Given the description of an element on the screen output the (x, y) to click on. 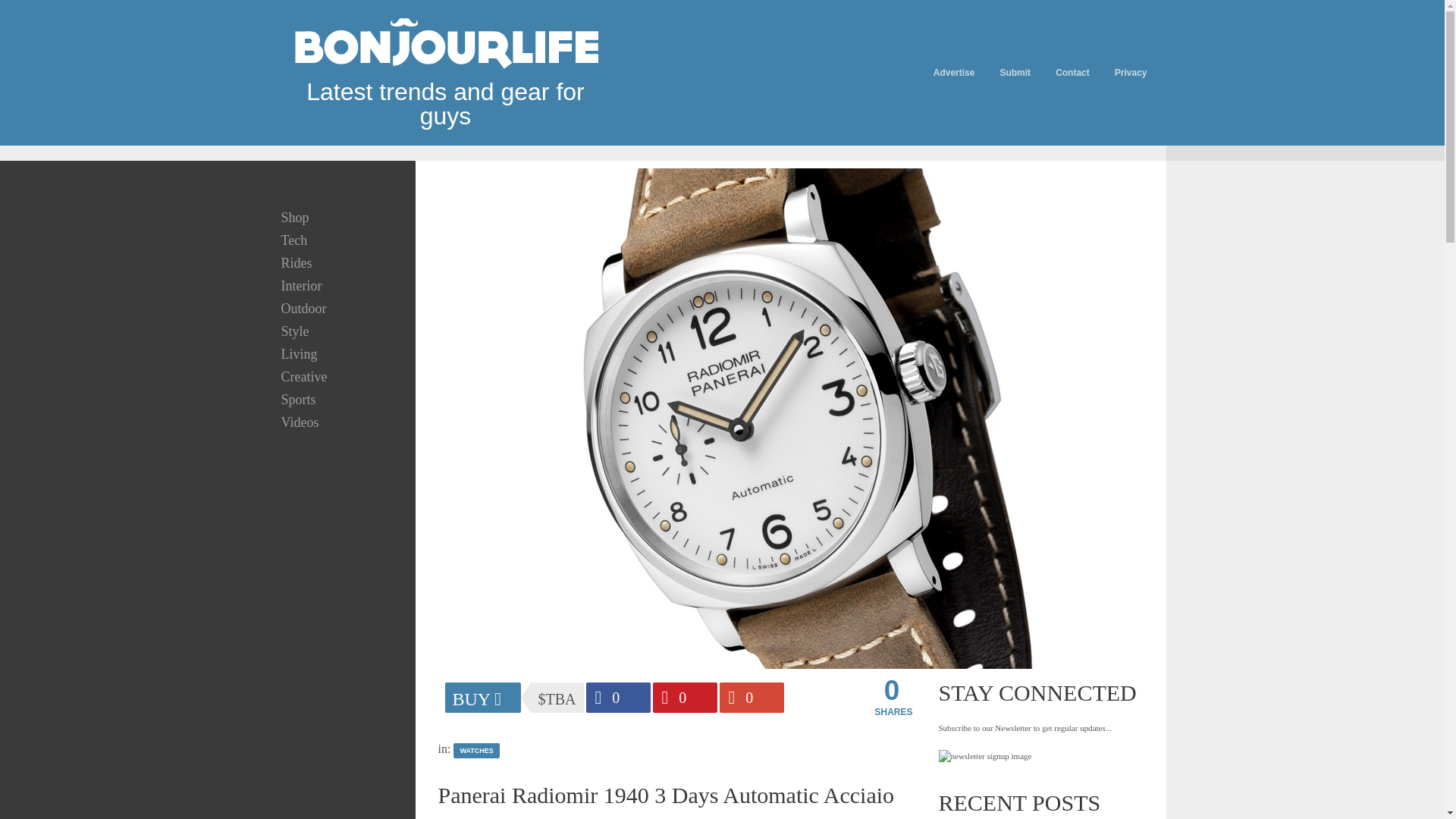
Shop (293, 217)
Contact (1071, 72)
GooglePlus (751, 697)
Pinterest (684, 697)
Facebook (617, 697)
Interior (300, 285)
Rides (296, 263)
Advertise (954, 72)
Tech (293, 240)
Submit (1015, 72)
